Given the description of an element on the screen output the (x, y) to click on. 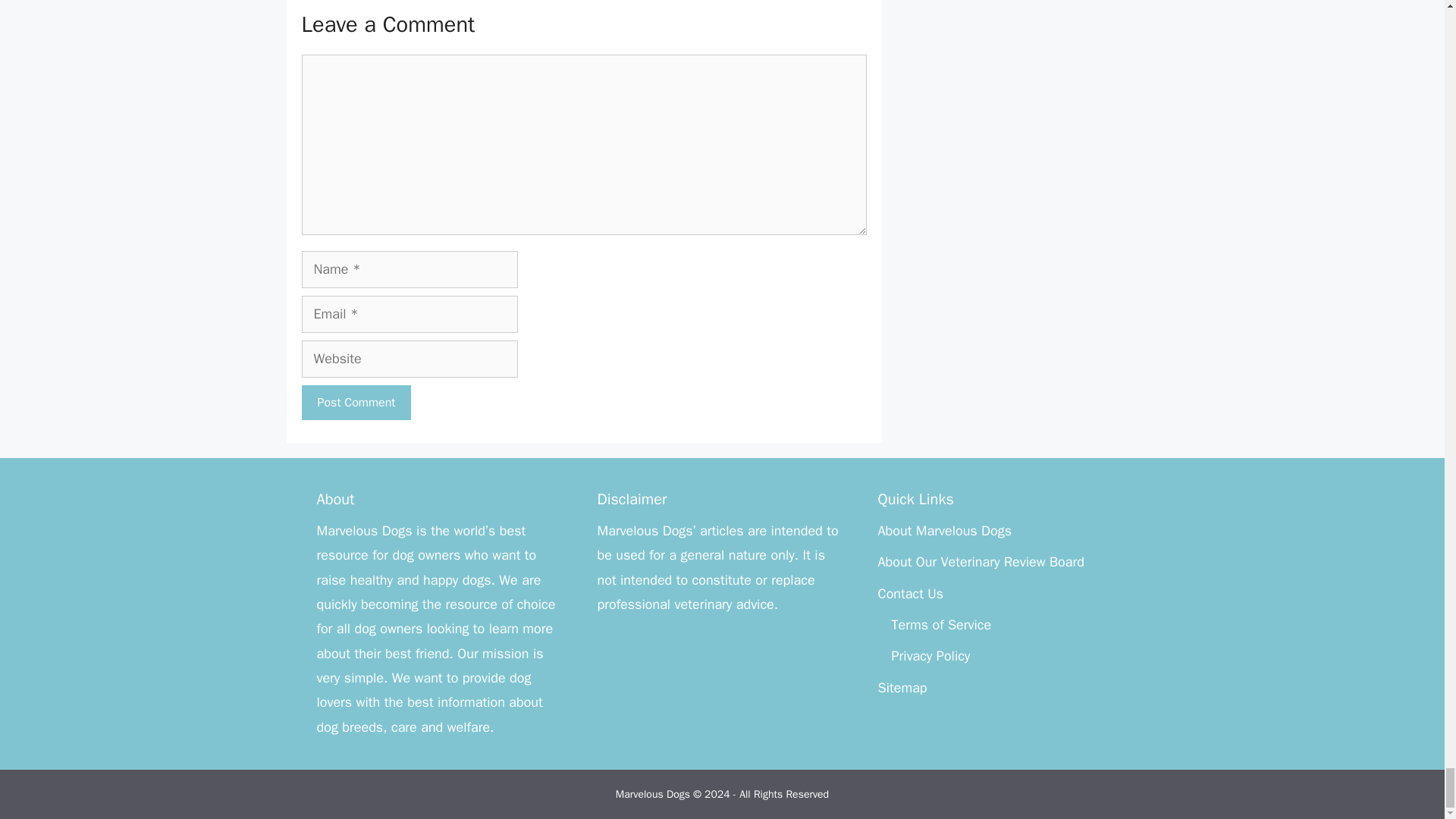
Post Comment (356, 402)
